Given the description of an element on the screen output the (x, y) to click on. 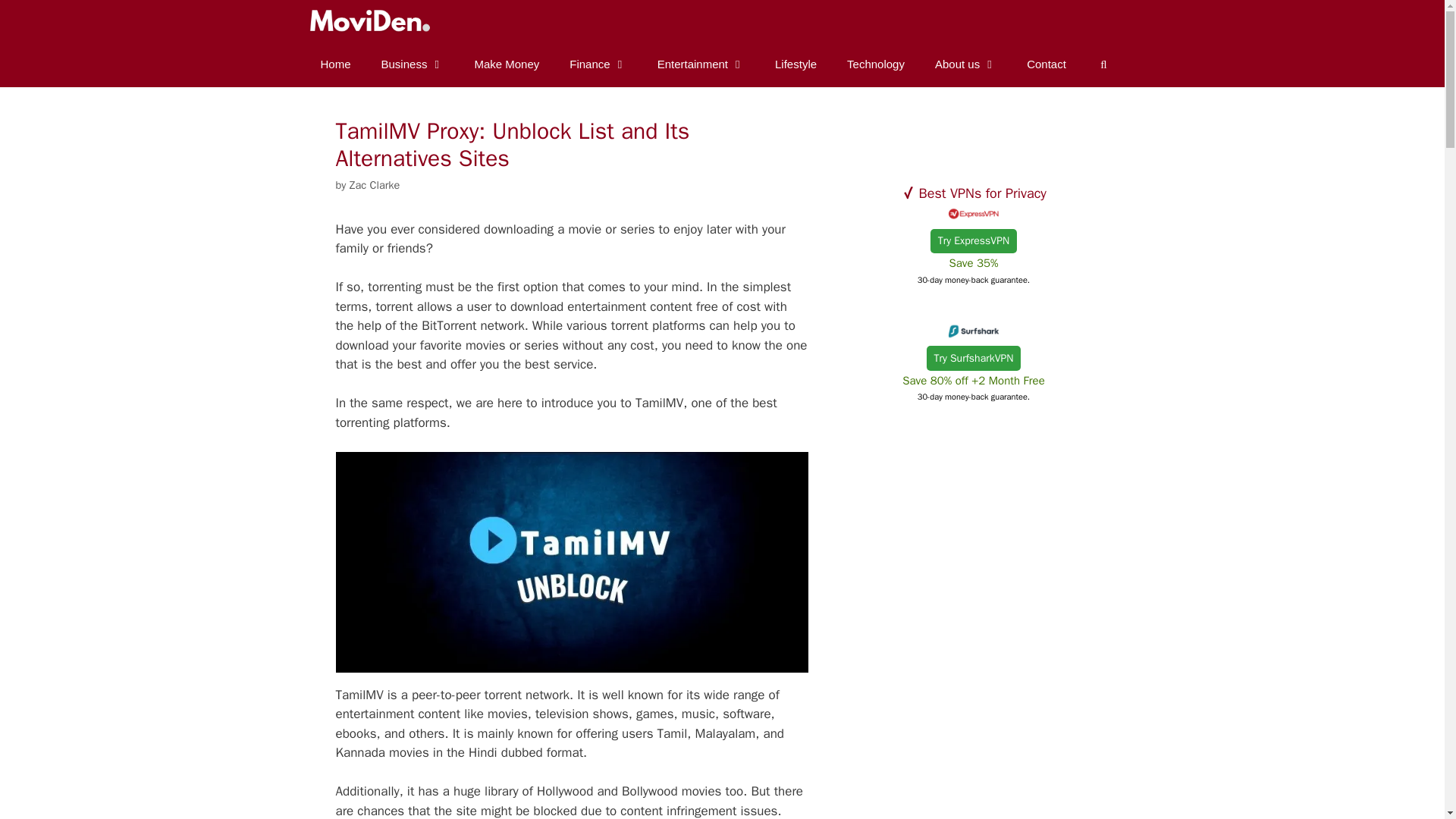
View all posts by Zac Clarke (374, 184)
Business (413, 63)
Make Money (506, 63)
Moviden (367, 20)
Home (334, 63)
Finance (598, 63)
Moviden (371, 20)
